Given the description of an element on the screen output the (x, y) to click on. 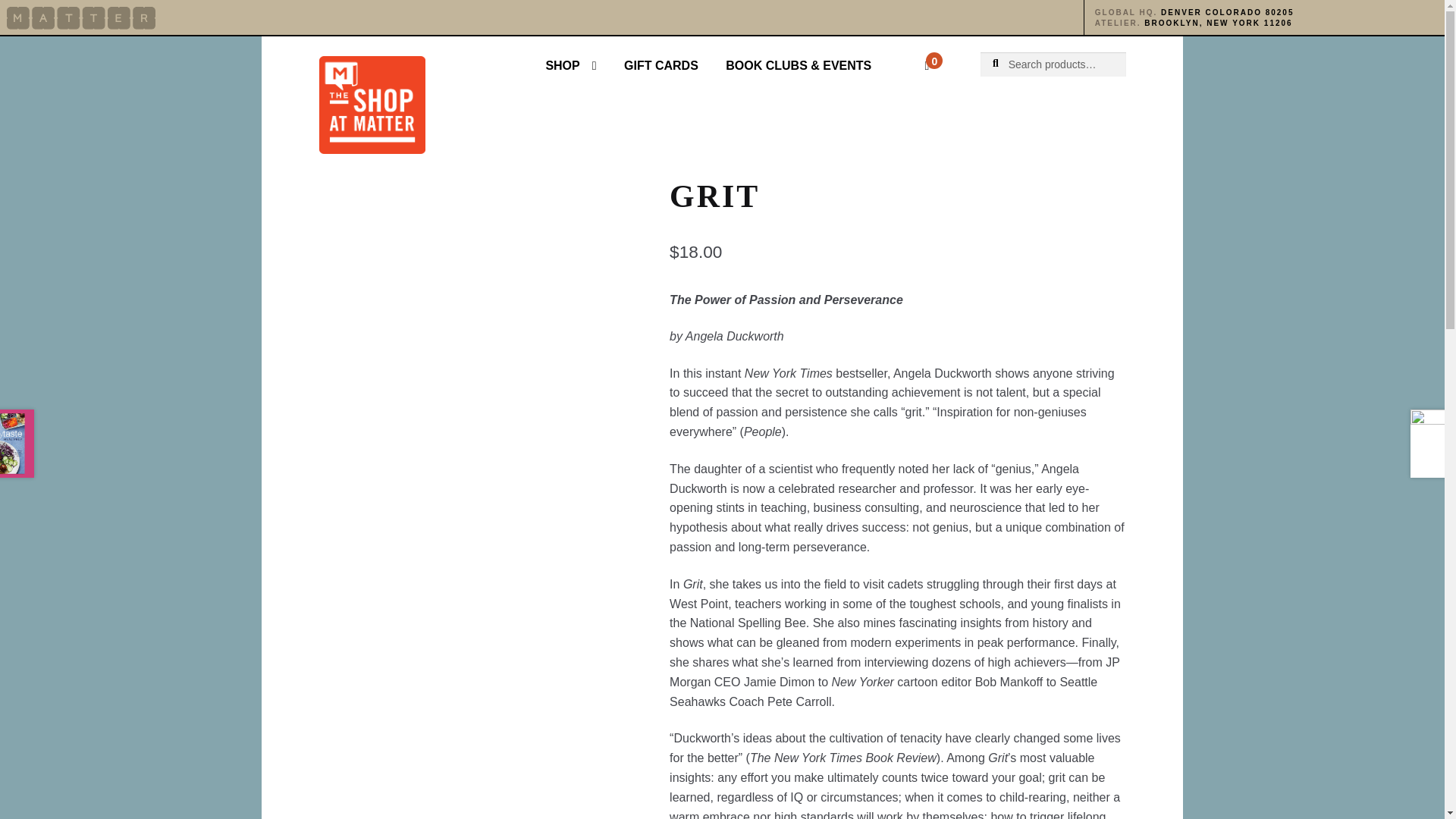
SHOP (570, 65)
Advocating design for human good (81, 17)
0 (905, 56)
View your shopping cart (905, 56)
GIFT CARDS (660, 65)
